Given the description of an element on the screen output the (x, y) to click on. 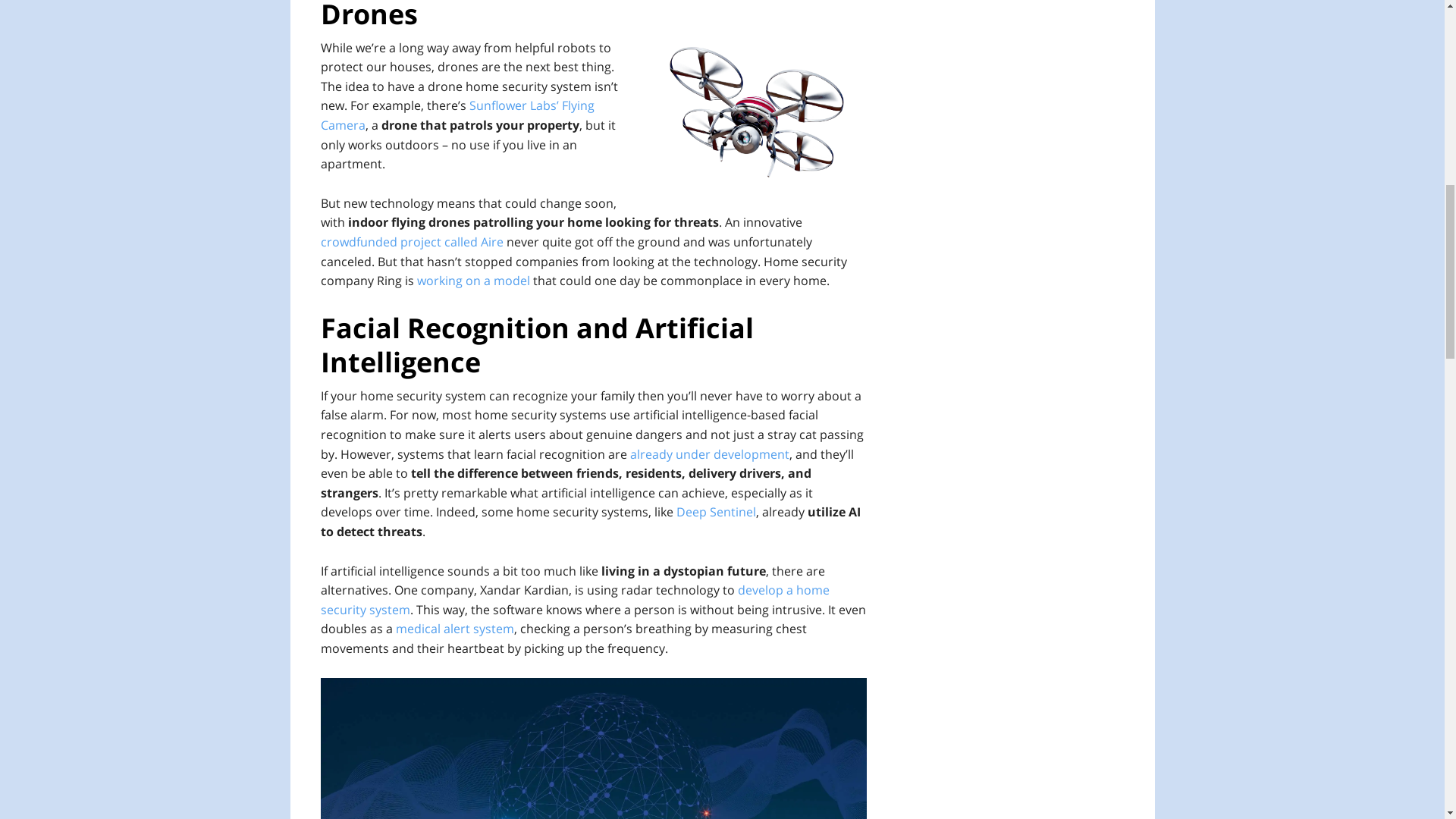
crowdfunded project called Aire (411, 241)
working on a model (472, 280)
medical alert system (454, 628)
Deep Sentinel (716, 511)
already under development (708, 453)
develop a home security system (574, 599)
